Given the description of an element on the screen output the (x, y) to click on. 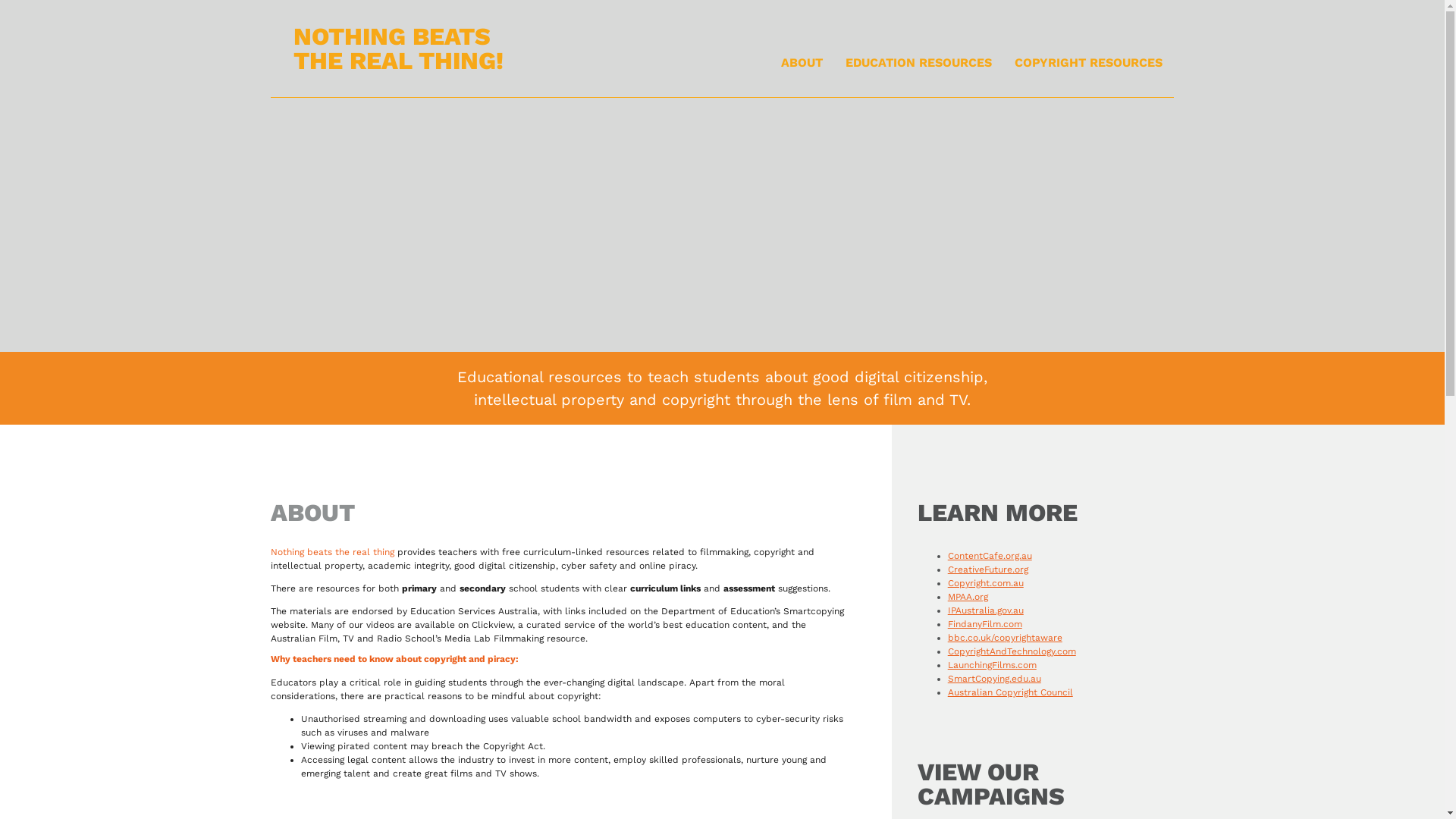
SmartCopying.edu.au Element type: text (994, 678)
CopyrightAndTechnology.com Element type: text (1011, 651)
EDUCATION RESOURCES Element type: text (918, 62)
IPAustralia.gov.au Element type: text (985, 610)
NOTHING BEATS
THE REAL THING! Element type: text (398, 48)
MPAA.org Element type: text (967, 596)
ContentCafe.org.au Element type: text (989, 555)
Copyright.com.au Element type: text (985, 582)
CreativeFuture.org Element type: text (987, 569)
ABOUT Element type: text (801, 62)
bbc.co.uk/copyrightaware Element type: text (1004, 637)
Australian Copyright Council Element type: text (1010, 692)
FindanyFilm.com Element type: text (984, 623)
COPYRIGHT RESOURCES Element type: text (1088, 62)
LaunchingFilms.com Element type: text (991, 664)
